Given the description of an element on the screen output the (x, y) to click on. 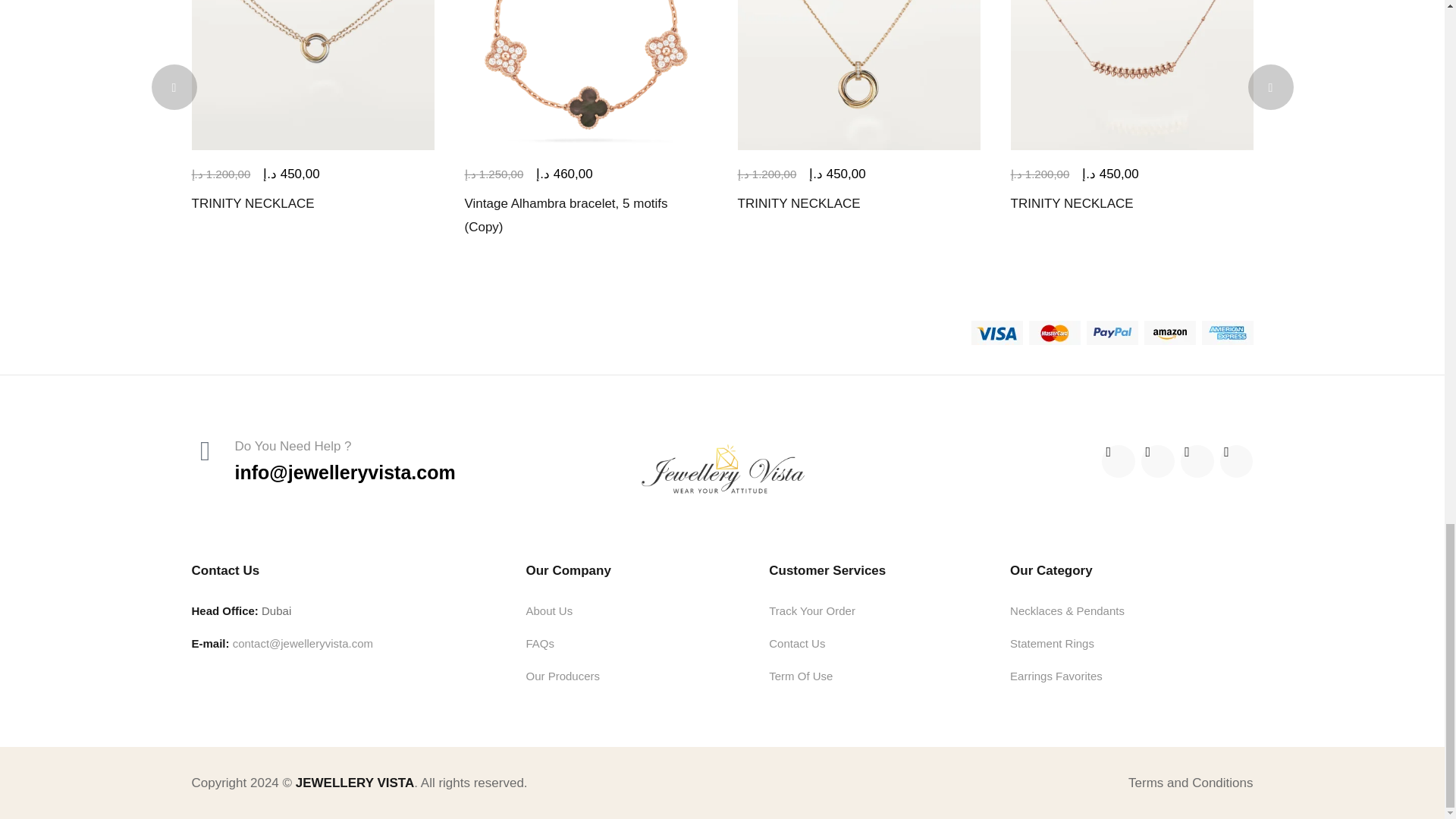
TRINITY NECKLACE (311, 74)
